Given the description of an element on the screen output the (x, y) to click on. 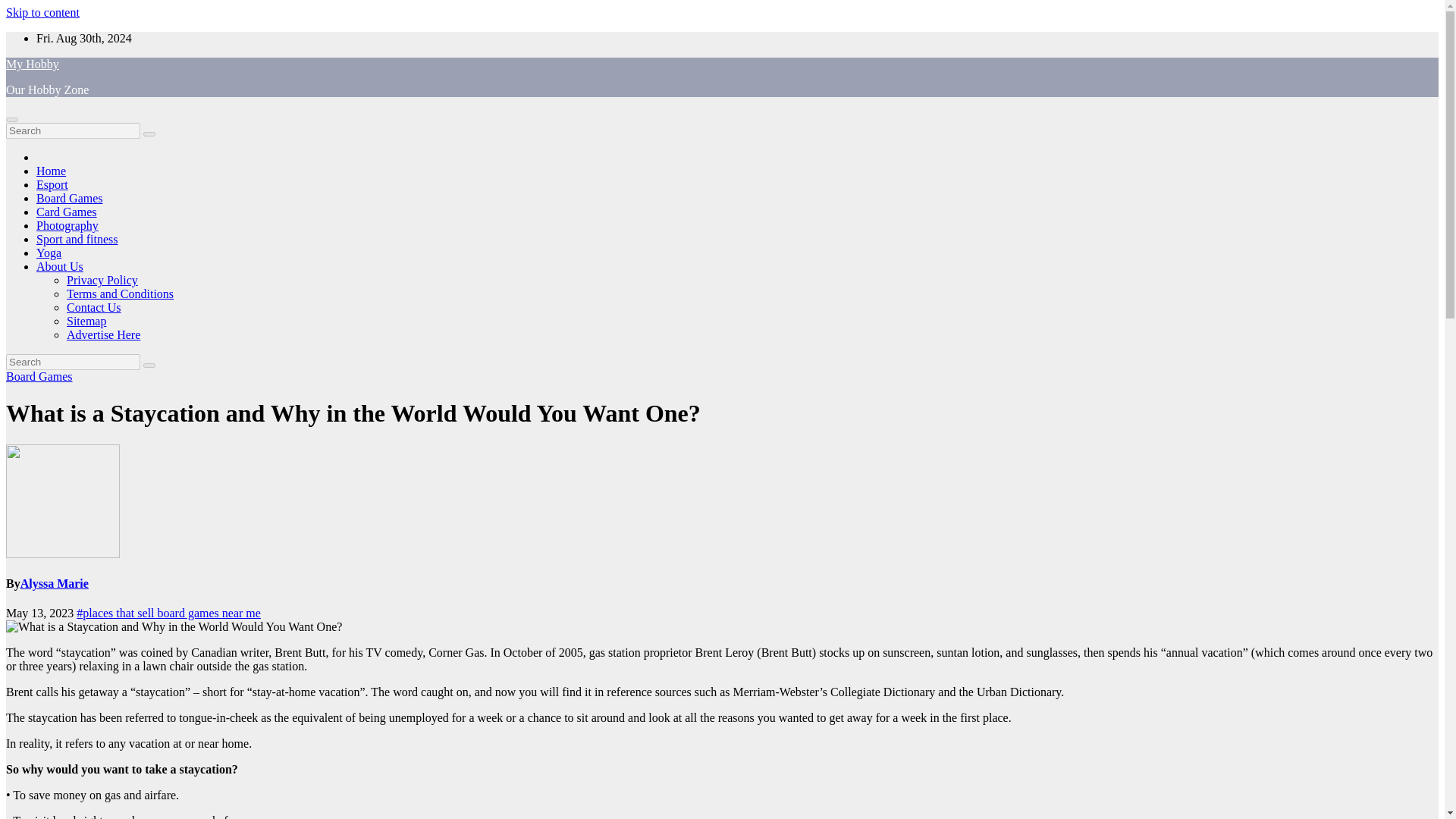
Board Games (69, 197)
Advertise Here (102, 334)
Card Games (66, 211)
Esport (52, 184)
My Hobby (32, 63)
Sport and fitness (76, 238)
Photography (67, 225)
Sitemap (86, 320)
Alyssa Marie (54, 583)
Advertise Here (102, 334)
